Given the description of an element on the screen output the (x, y) to click on. 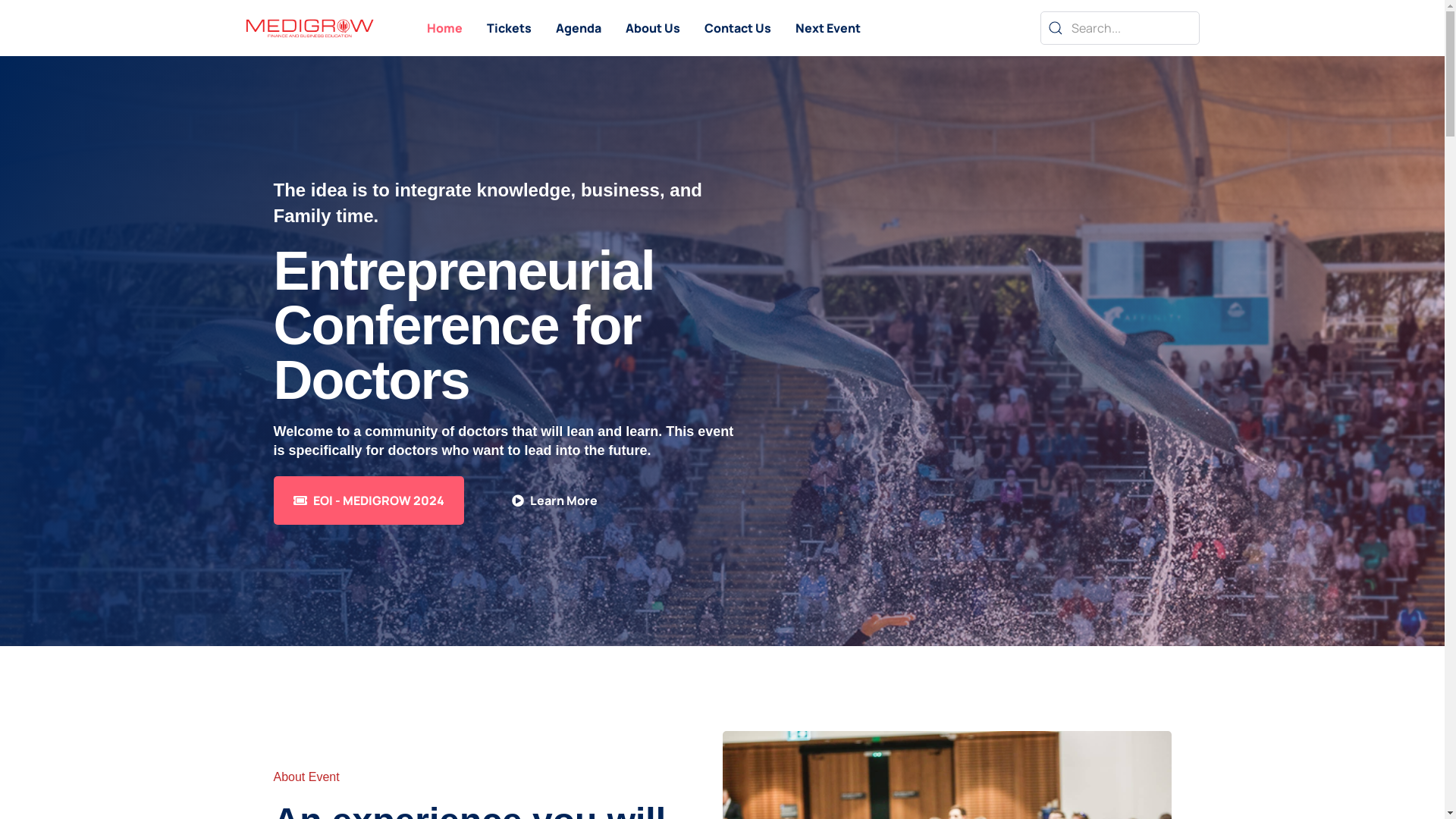
Search Element type: hover (1119, 27)
Learn More Element type: text (554, 500)
Tickets Element type: text (508, 27)
EOI - MEDIGROW 2024 Element type: text (368, 500)
Home Element type: text (443, 27)
About Us Element type: text (651, 27)
Next Event Element type: text (826, 27)
Agenda Element type: text (577, 27)
Contact Us Element type: text (736, 27)
